Given the description of an element on the screen output the (x, y) to click on. 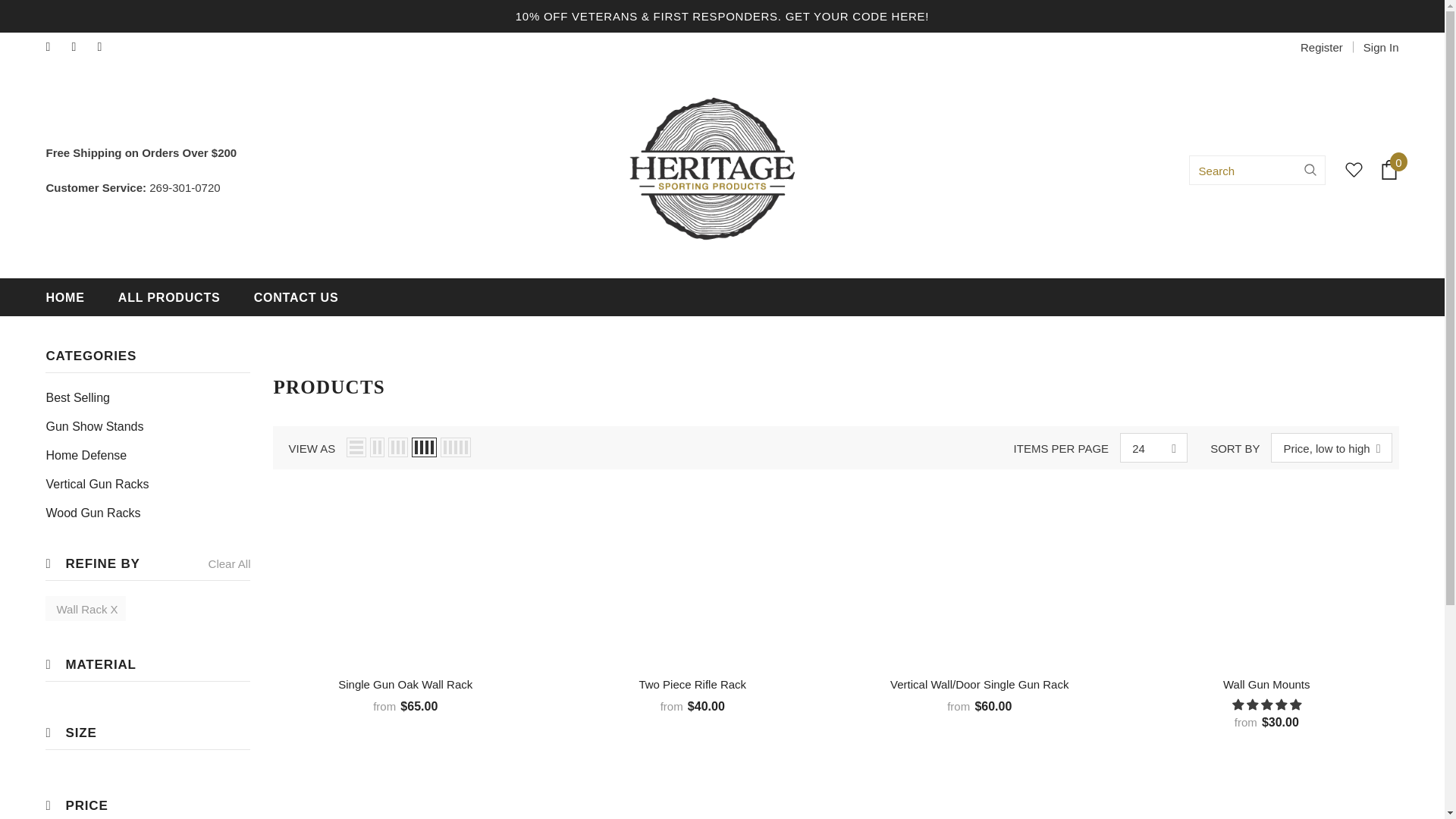
0 (1388, 169)
Wall Rack X (85, 608)
Register (1321, 47)
Logo (712, 169)
Sign In (1375, 47)
ALL PRODUCTS (169, 297)
Best Selling (77, 397)
HOME (64, 297)
Instagram (80, 46)
Facebook (54, 46)
